Given the description of an element on the screen output the (x, y) to click on. 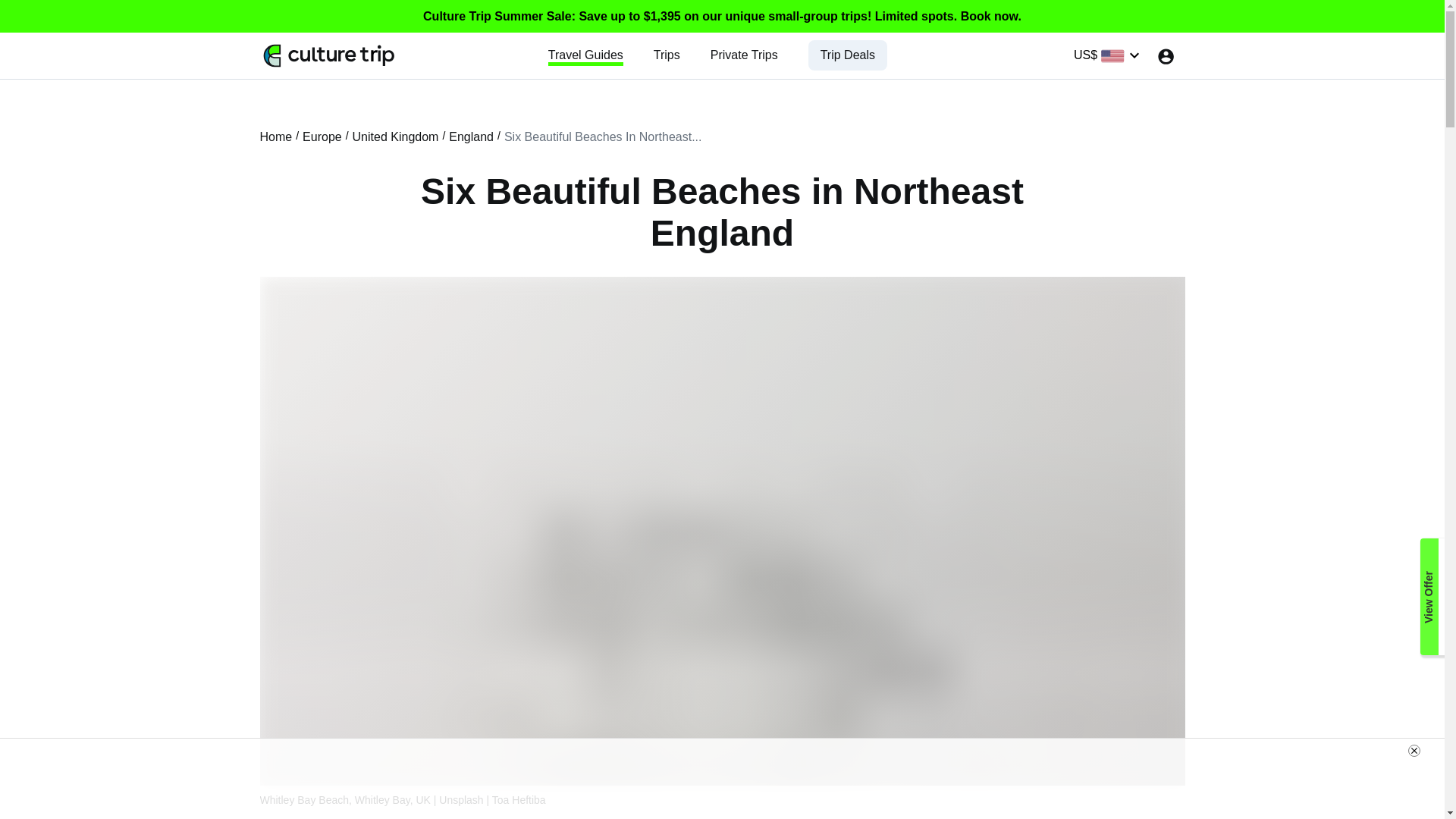
Trips (666, 54)
United Kingdom (395, 136)
Private Trips (743, 54)
England (470, 136)
Europe (322, 136)
Travel Guides (585, 54)
The Culture Trip (328, 54)
Six Beautiful Beaches In Northeast... (602, 136)
Trip Deals (848, 54)
Trips (666, 54)
Trip Deals (848, 54)
Private Trips (743, 54)
Travel Guides (585, 54)
Home (275, 136)
